Given the description of an element on the screen output the (x, y) to click on. 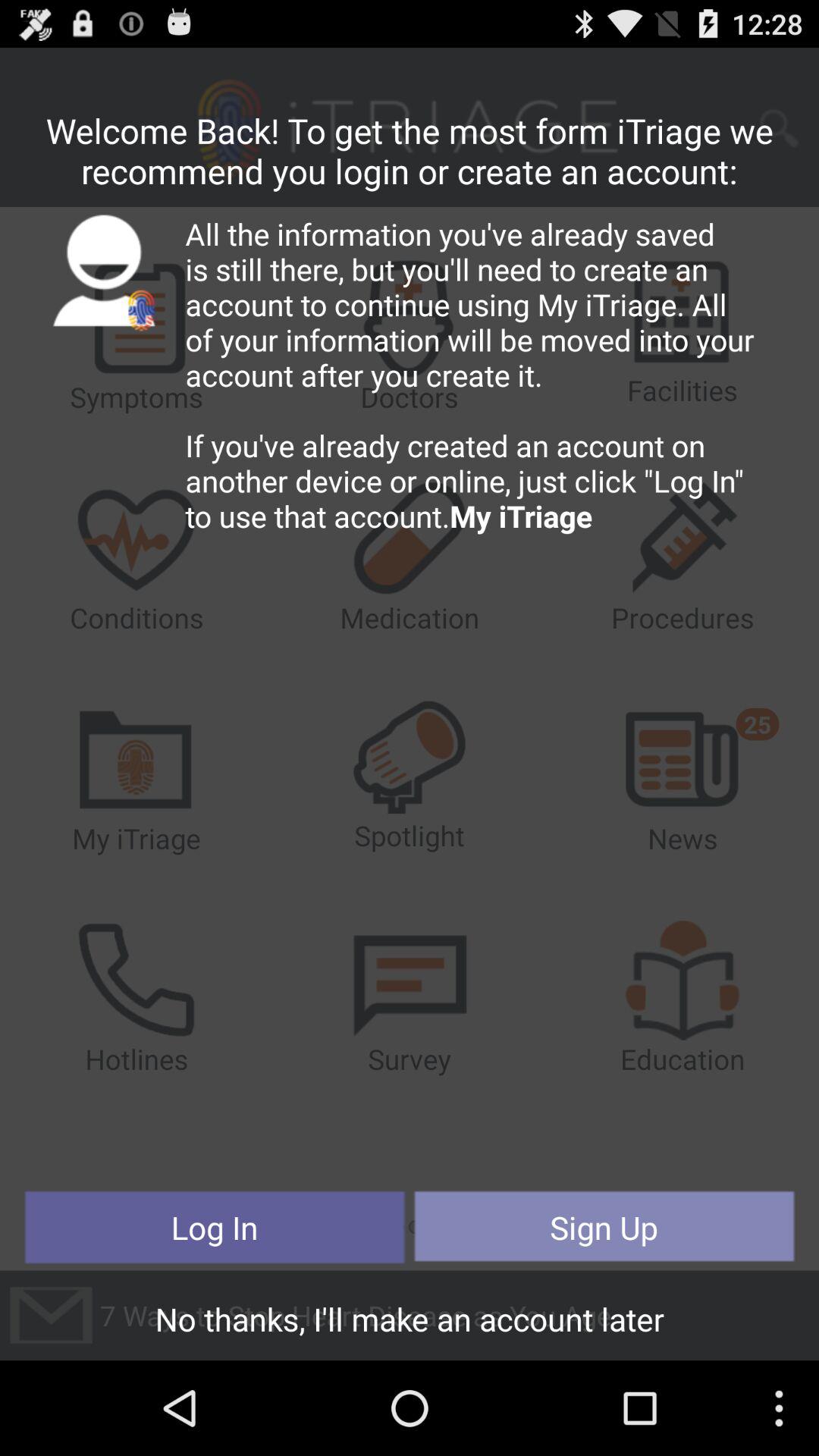
launch the button at the bottom left corner (214, 1227)
